Given the description of an element on the screen output the (x, y) to click on. 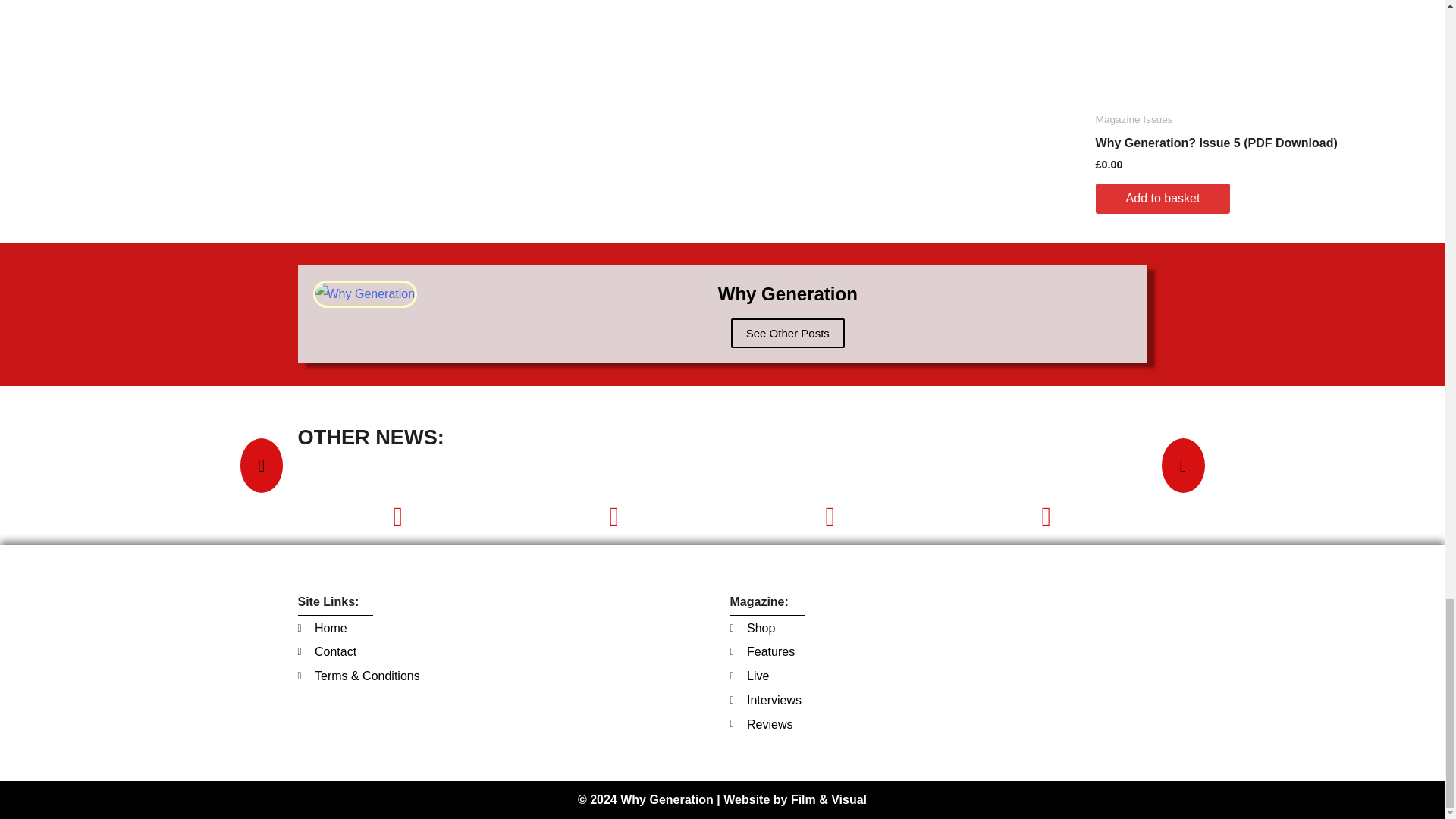
Why Generation (787, 293)
Add to basket (1163, 198)
See Other Posts (787, 333)
